Given the description of an element on the screen output the (x, y) to click on. 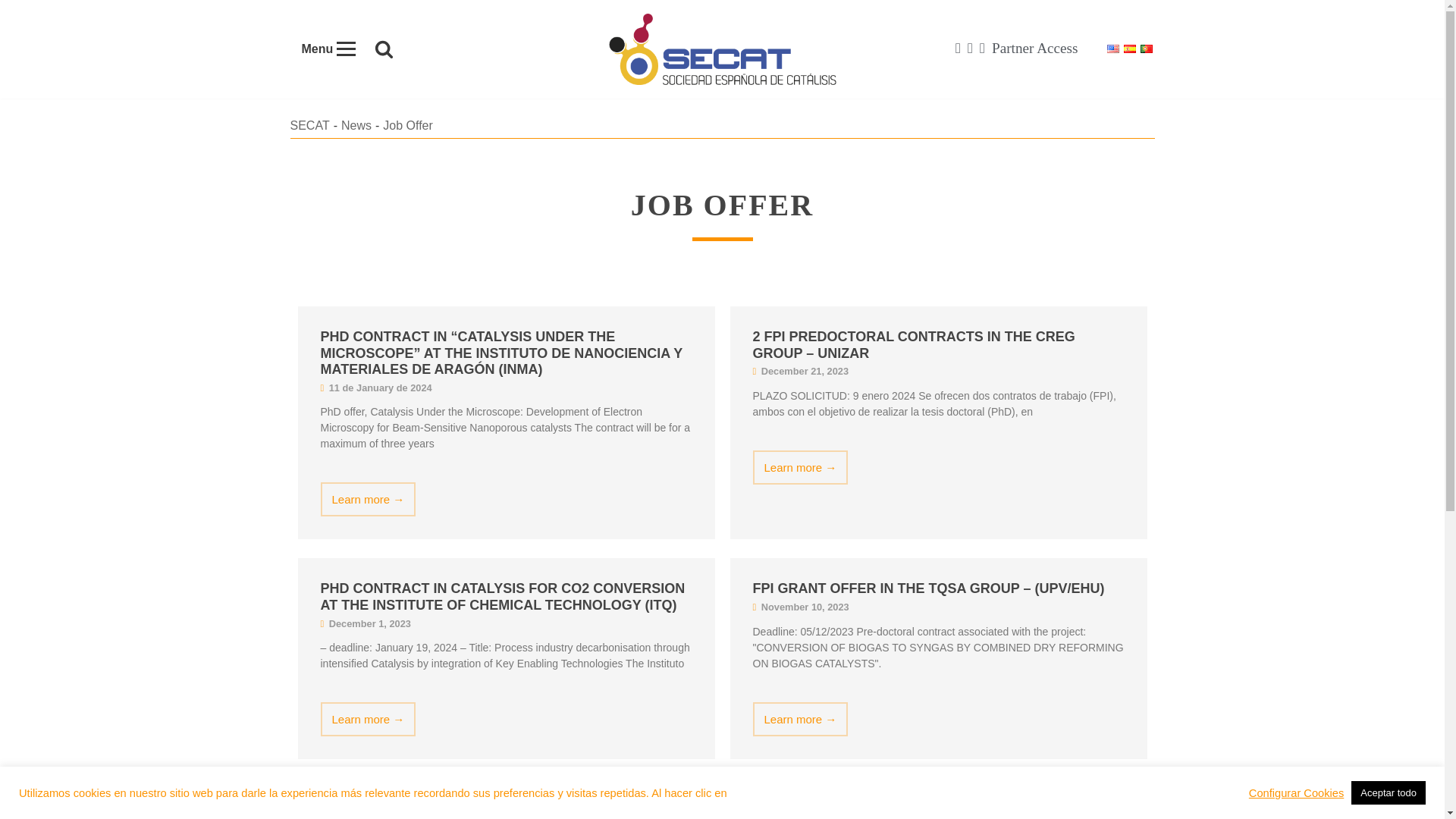
Go to Job Opening. (407, 124)
Go to SECAT. (309, 124)
Partner Access (1034, 48)
Menu (327, 48)
Go to News. (355, 124)
English (1112, 49)
Skip to content (11, 31)
